Given the description of an element on the screen output the (x, y) to click on. 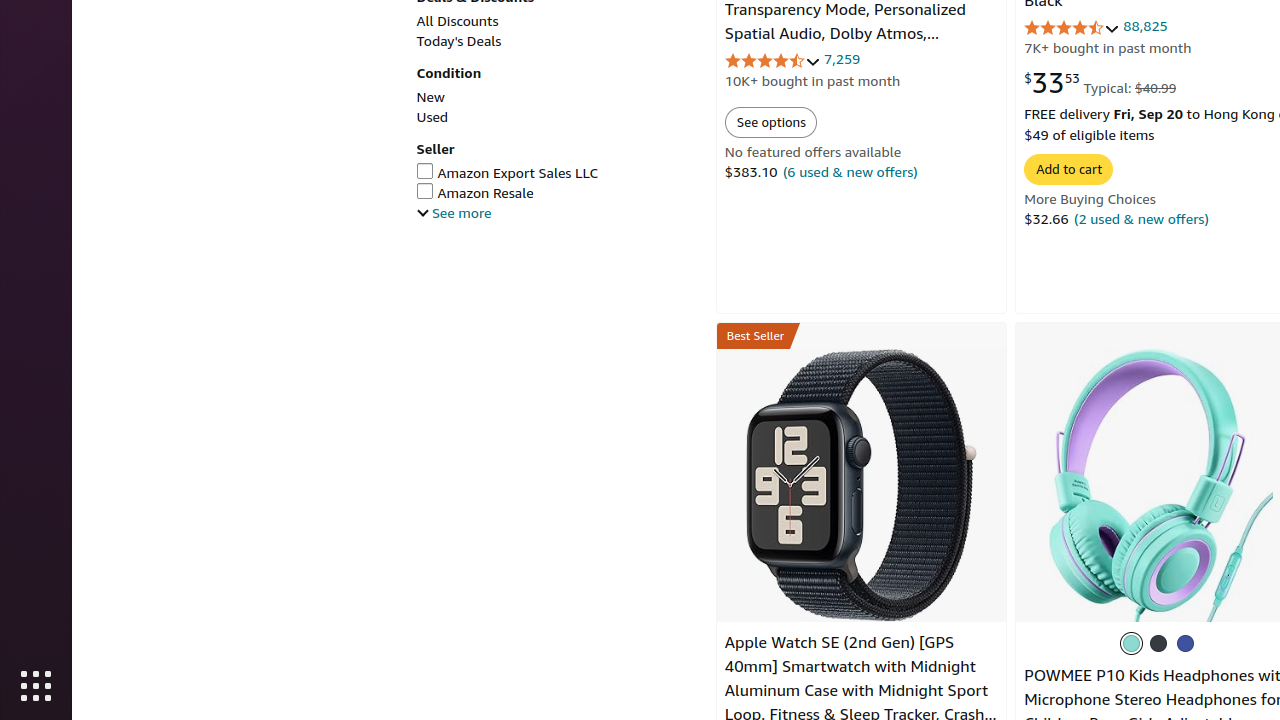
See options Element type: link (770, 122)
4.7 out of 5 stars Element type: push-button (1072, 27)
Green Element type: push-button (1132, 643)
See more, Seller Element type: push-button (454, 213)
4.6 out of 5 stars Element type: push-button (772, 60)
